Given the description of an element on the screen output the (x, y) to click on. 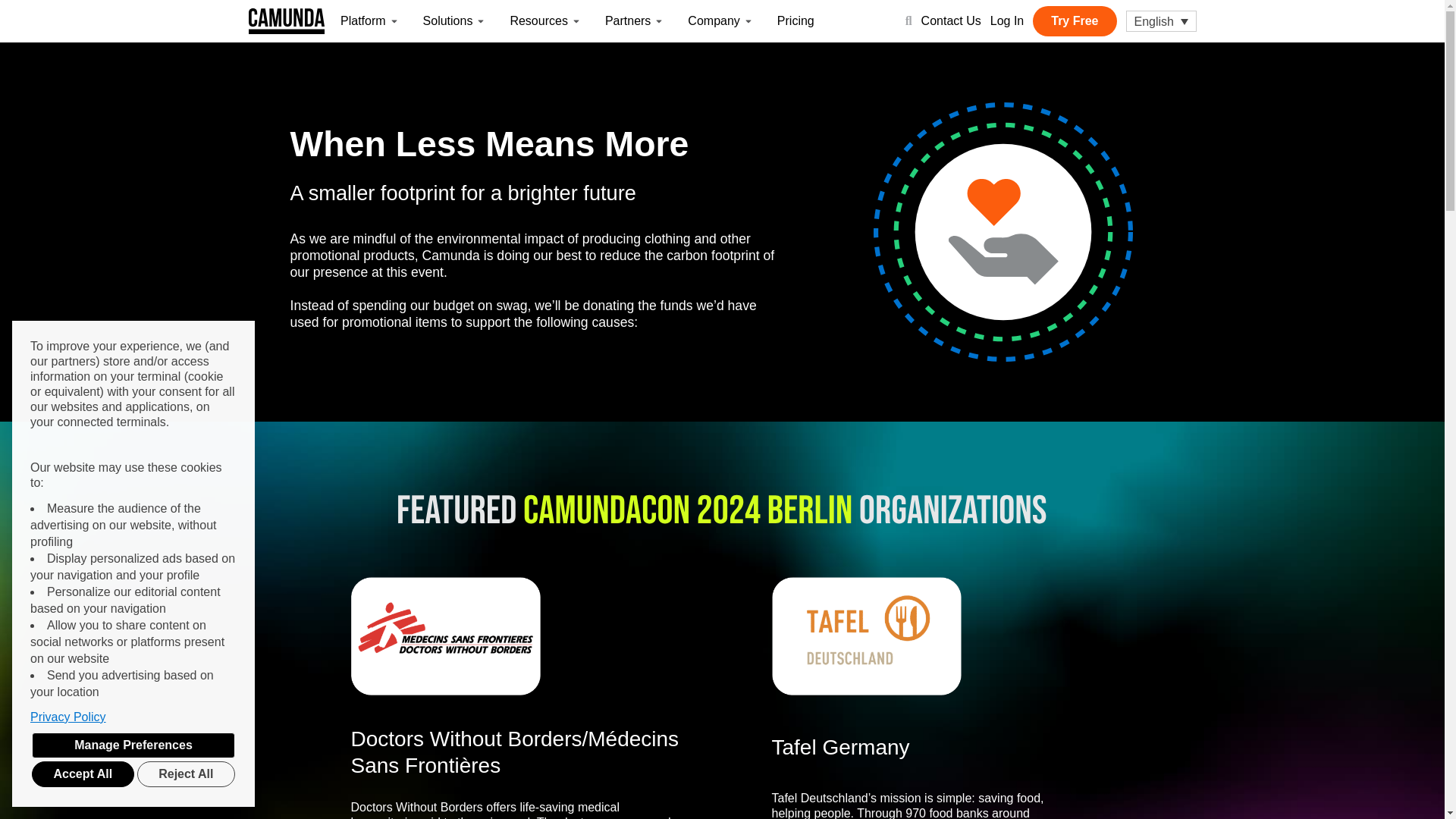
Manage Preferences (133, 745)
Reject All (185, 774)
Accept All (82, 774)
Privacy Policy (132, 717)
